Given the description of an element on the screen output the (x, y) to click on. 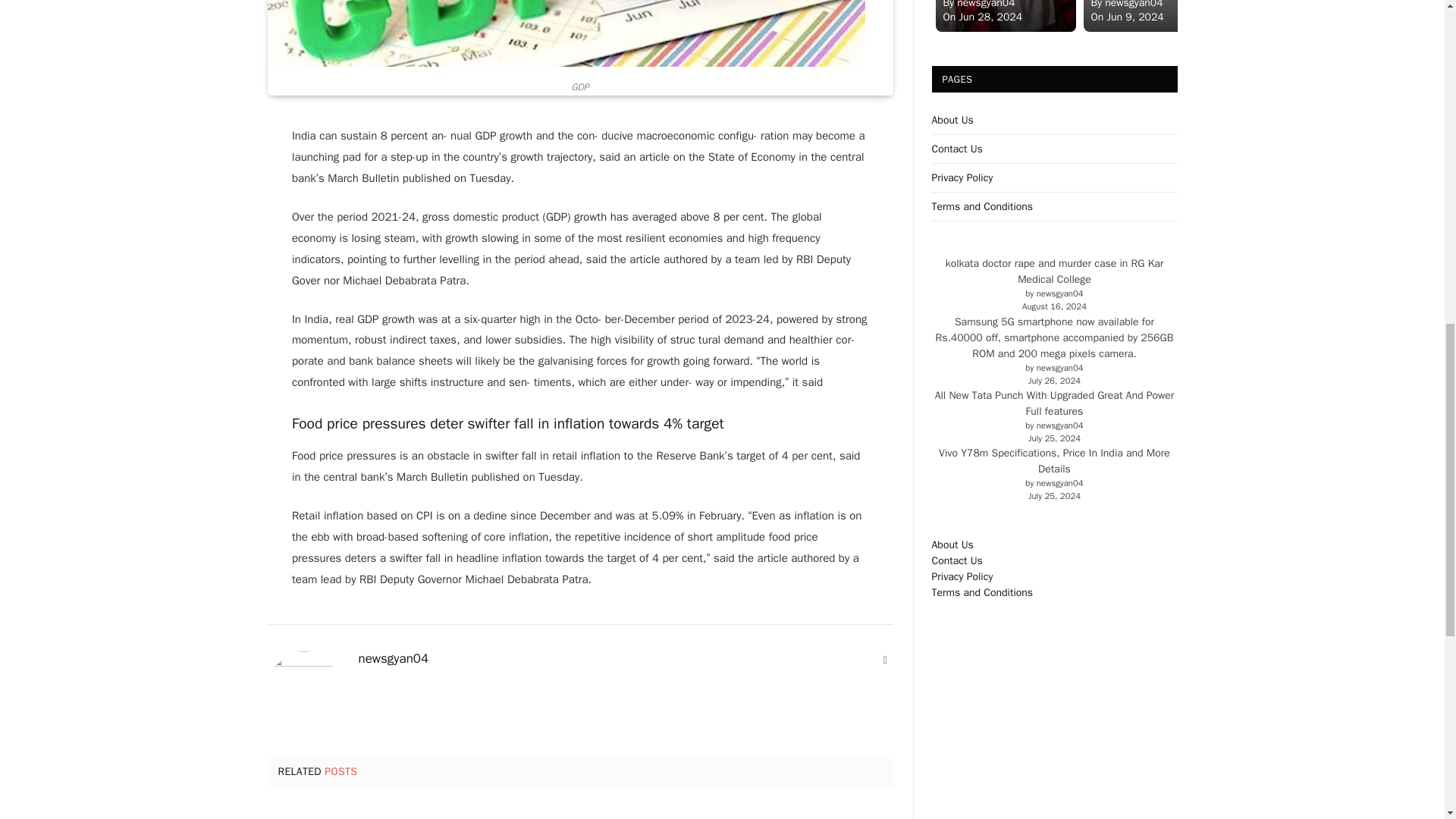
newsgyan04 (393, 658)
Website (885, 660)
The cheapest recharge plan from Jio that too for 336 days (365, 813)
Posts by newsgyan04 (393, 658)
Website (885, 660)
